Given the description of an element on the screen output the (x, y) to click on. 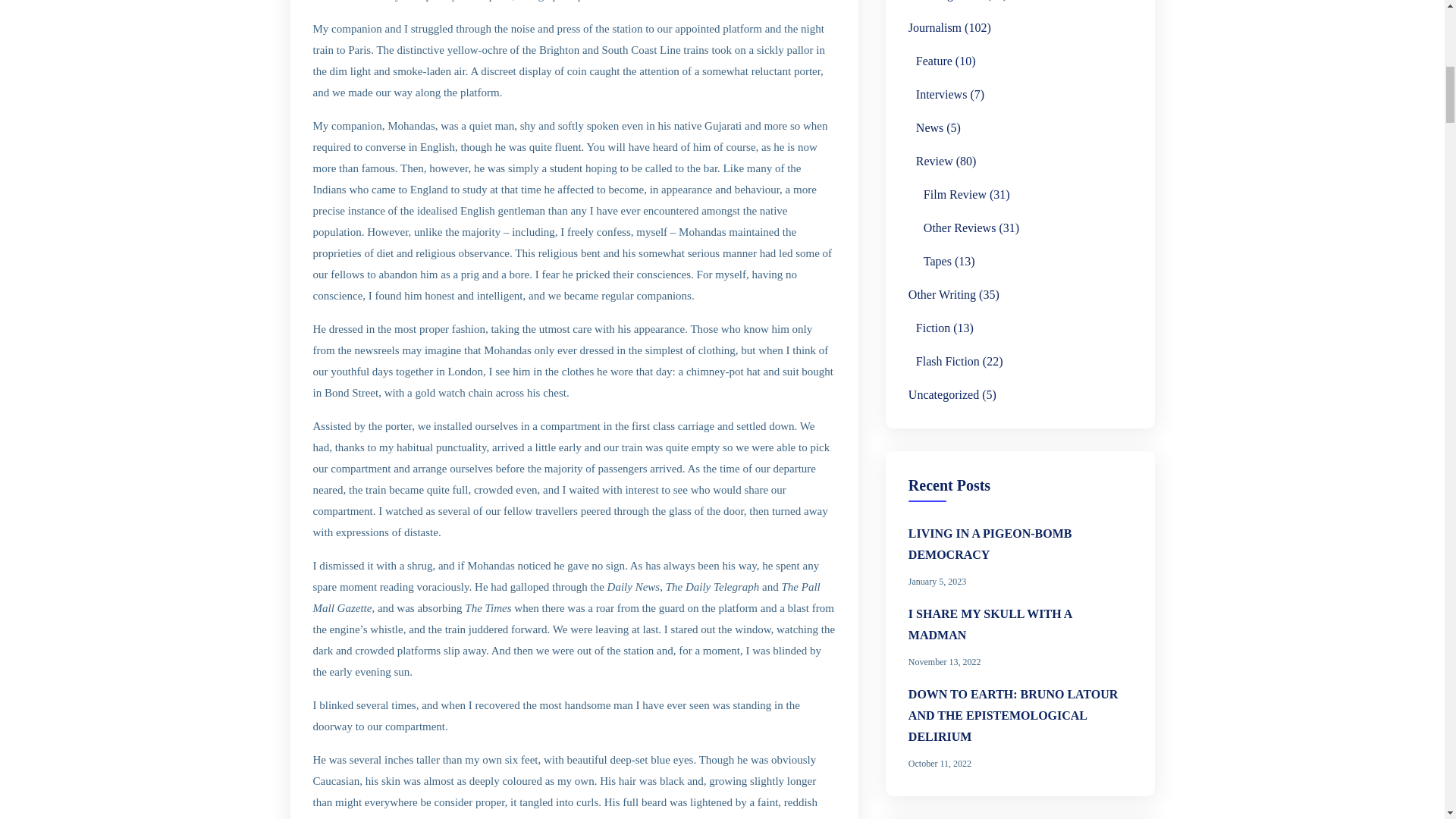
Feature (933, 61)
Writing News (949, 2)
Interviews (941, 94)
Journalism (934, 27)
